Given the description of an element on the screen output the (x, y) to click on. 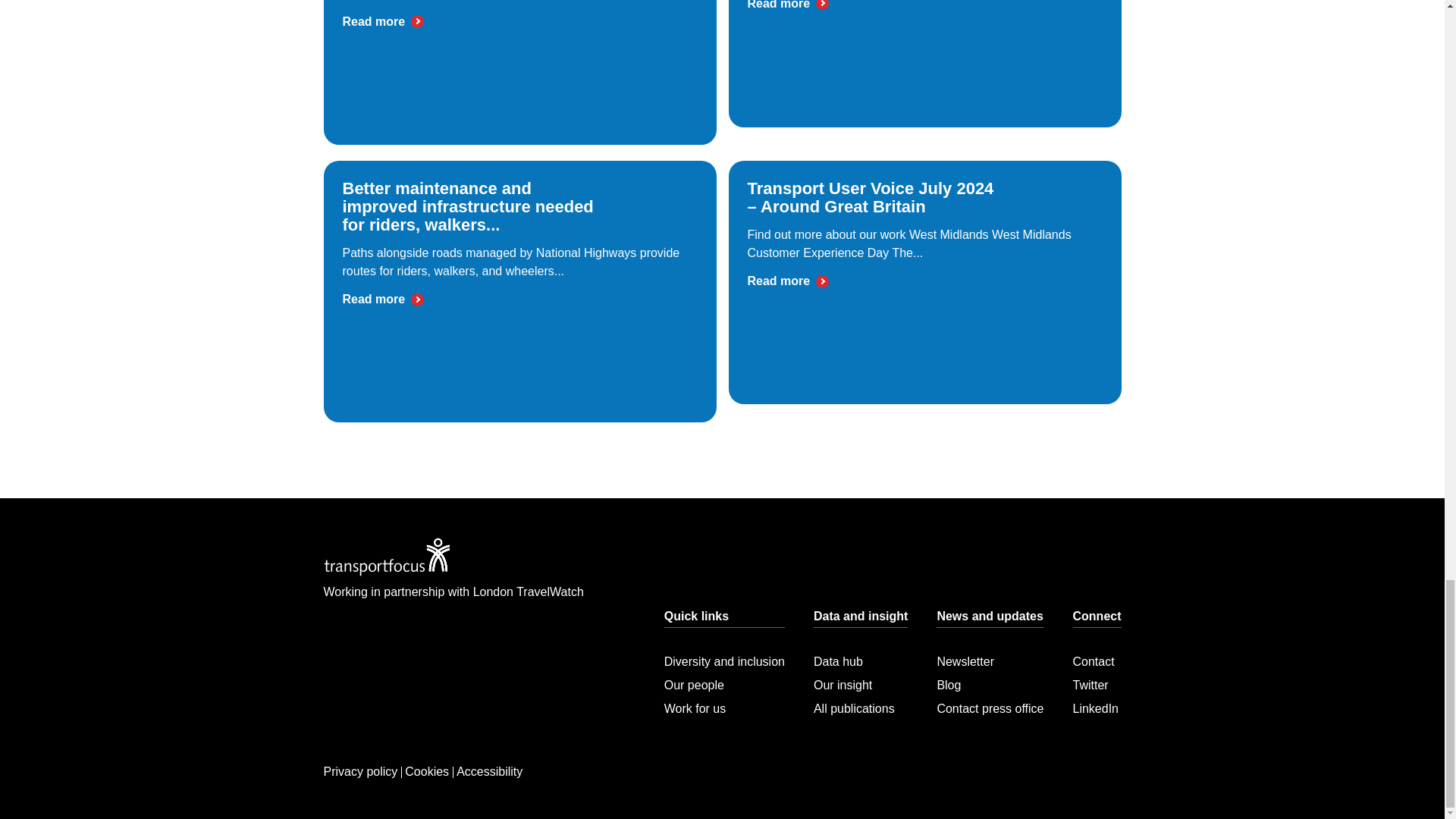
Contact press office (989, 704)
Work for us (723, 704)
LinkedIn (1096, 704)
Accessibility (488, 747)
Working in partnership with London TravelWatch (453, 588)
All publications (860, 704)
Our insight (860, 680)
Diversity and inclusion (723, 661)
Contact (1096, 661)
Blog (989, 680)
Newsletter (989, 661)
Data hub (860, 661)
Twitter (1096, 680)
Privacy policy (360, 747)
